Given the description of an element on the screen output the (x, y) to click on. 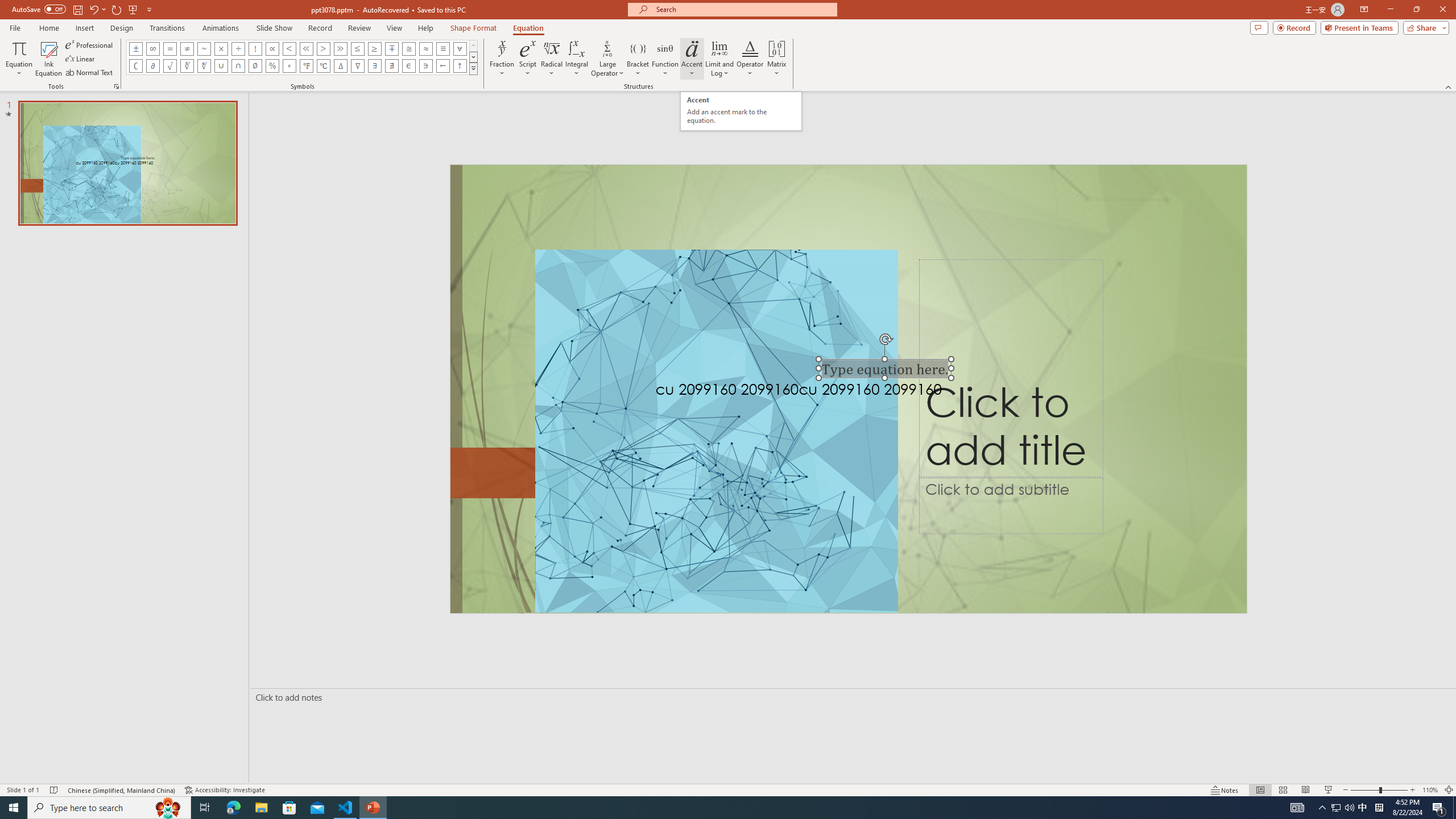
Script (527, 58)
Equation Symbol Division Sign (238, 48)
Equation Symbol Degrees Celsius (322, 65)
Equation Symbol Left Arrow (442, 65)
Equation Symbol Not Equal To (187, 48)
Equation Symbol Approximately (203, 48)
Equation Symbol Radical Sign (170, 65)
Limit and Log (719, 58)
Equation Symbol Plus Minus (136, 48)
Equation Symbol For All (459, 48)
